Given the description of an element on the screen output the (x, y) to click on. 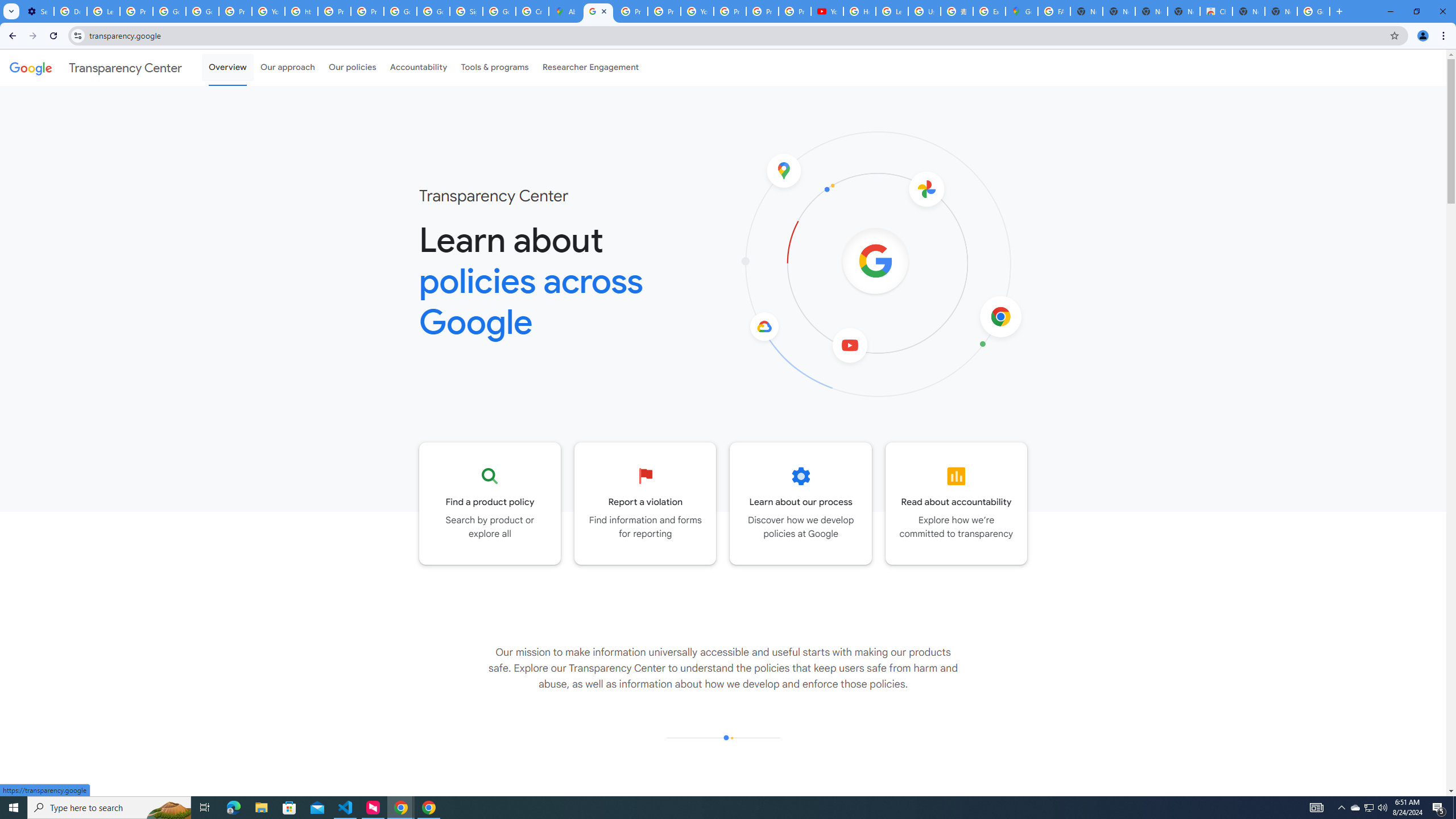
Chrome Web Store (1216, 11)
Accountability (418, 67)
Go to the Reporting and appeals page (645, 503)
Go to the Product policy page (490, 503)
Create your Google Account (532, 11)
Go to the Our process page (800, 503)
YouTube (697, 11)
Our policies (351, 67)
